Given the description of an element on the screen output the (x, y) to click on. 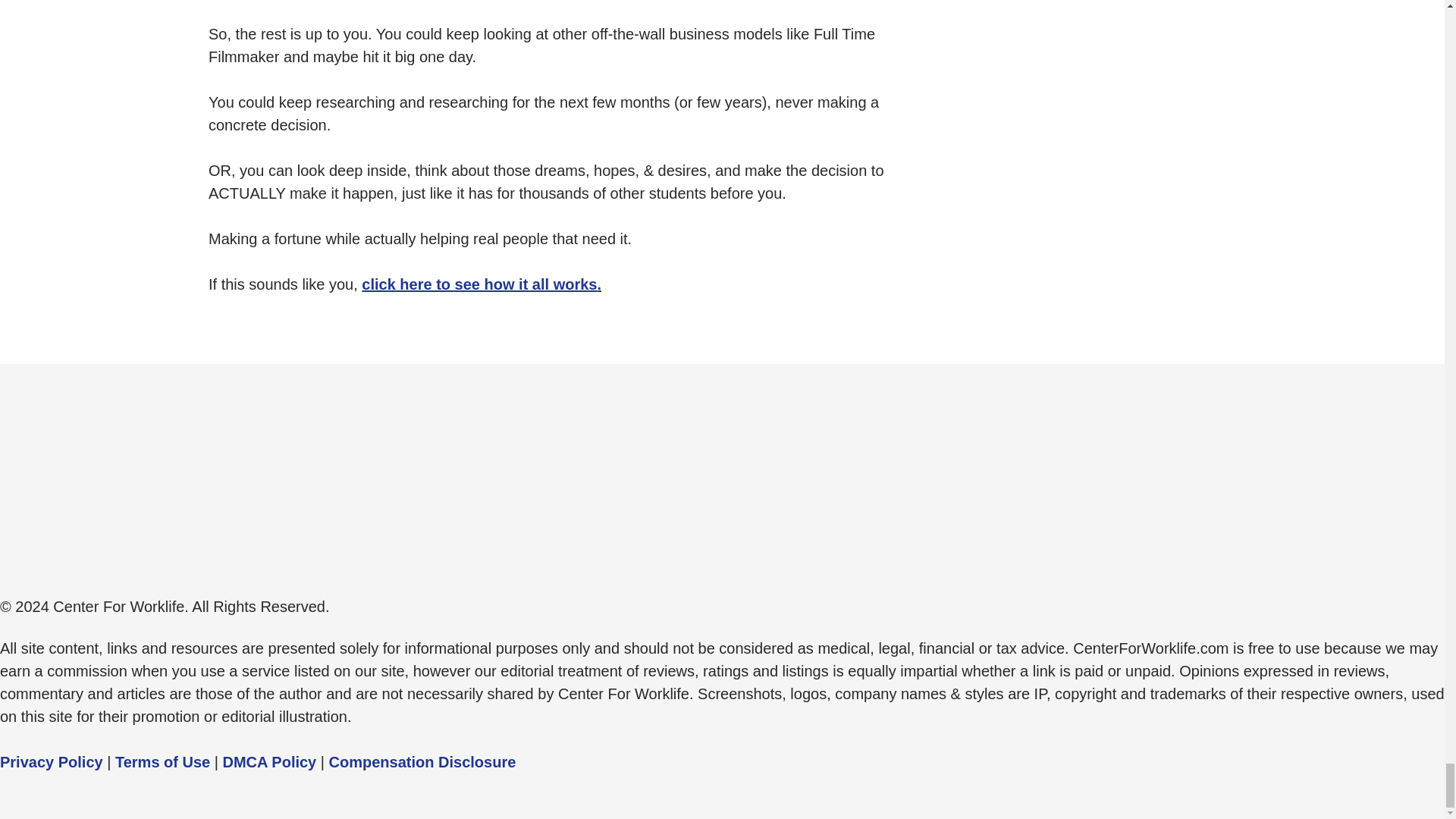
Compensation Disclosure (422, 761)
DMCA Policy (269, 761)
Terms of Use (162, 761)
Privacy Policy (51, 761)
click here to see how it all works. (481, 284)
